Given the description of an element on the screen output the (x, y) to click on. 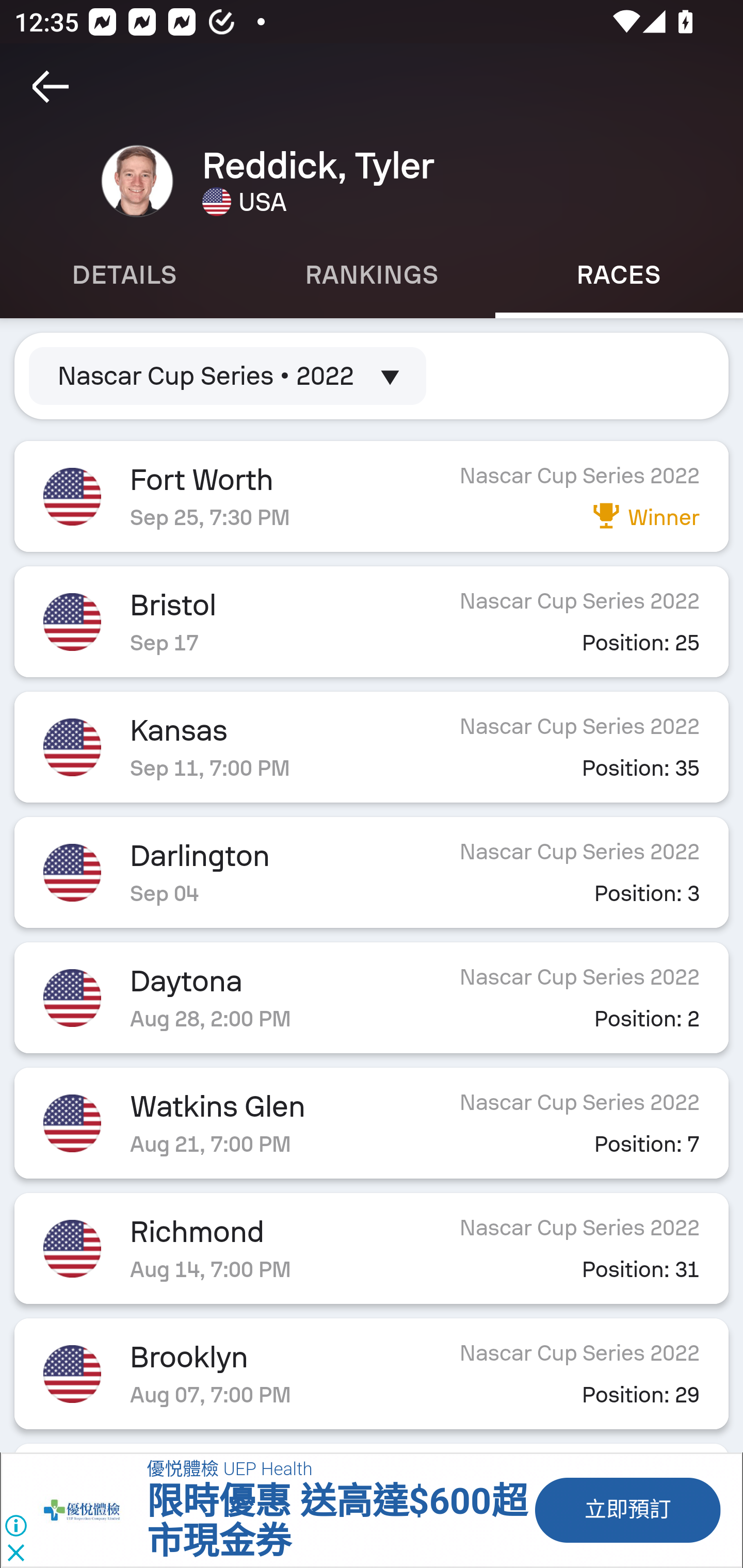
Navigate up (50, 86)
Details DETAILS (123, 275)
Rankings RANKINGS (371, 275)
Nascar Cup Series • 2022 (227, 375)
Bristol Nascar Cup Series 2022 Sep 17 Position: 25 (371, 621)
優悦體檢 UEP Health (228, 1469)
www.healthcheck-hk (92, 1509)
立即預訂 (626, 1509)
限時優惠 送高達$600超 市現金券 限時優惠 送高達$600超 市現金券 (335, 1521)
